Given the description of an element on the screen output the (x, y) to click on. 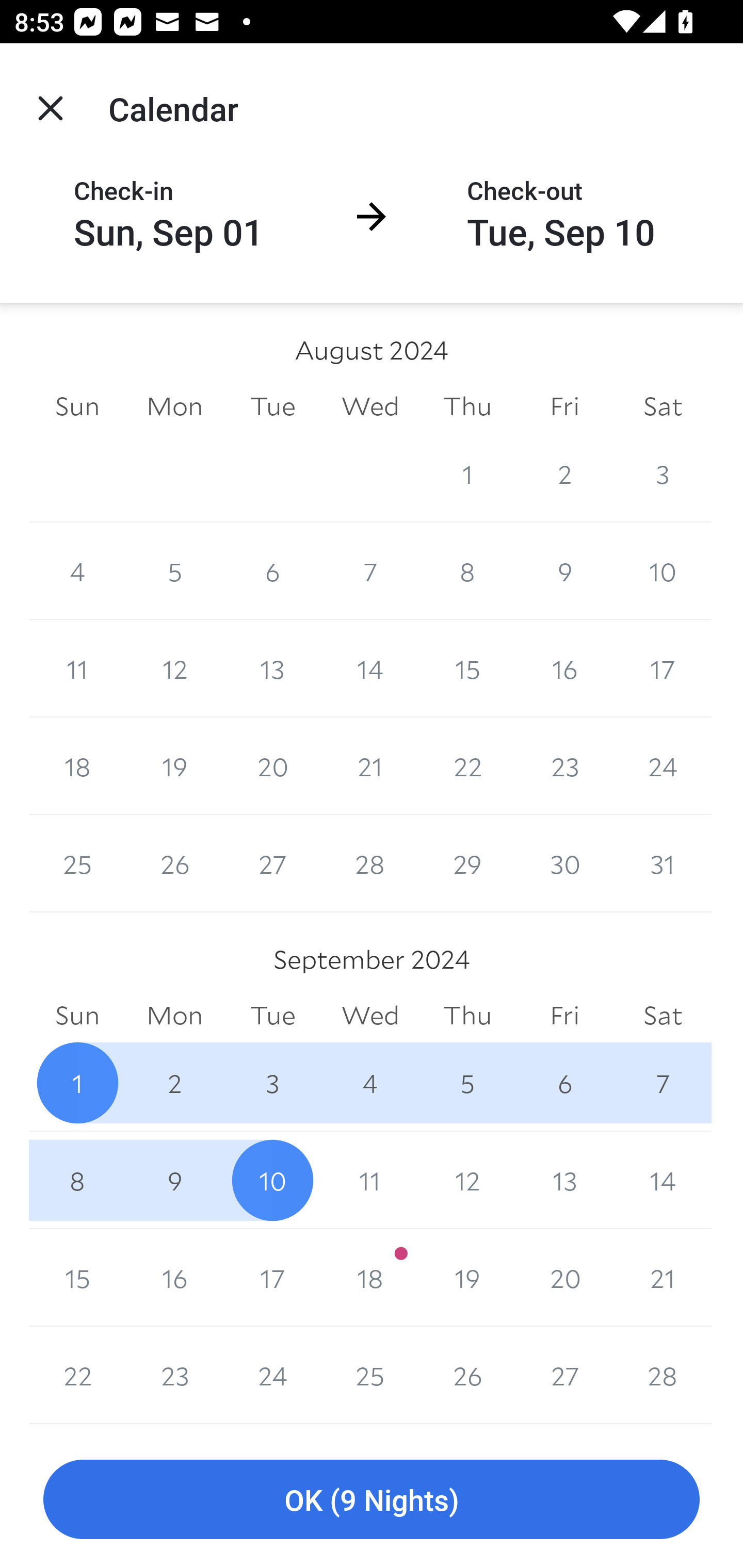
Sun (77, 405)
Mon (174, 405)
Tue (272, 405)
Wed (370, 405)
Thu (467, 405)
Fri (564, 405)
Sat (662, 405)
29 29 August 2024 (174, 473)
30 30 August 2024 (272, 473)
31 31 August 2024 (370, 473)
1 1 August 2024 (467, 473)
2 2 August 2024 (564, 473)
3 3 August 2024 (662, 473)
4 4 August 2024 (77, 570)
5 5 August 2024 (174, 570)
6 6 August 2024 (272, 570)
7 7 August 2024 (370, 570)
8 8 August 2024 (467, 570)
9 9 August 2024 (564, 570)
10 10 August 2024 (662, 570)
11 11 August 2024 (77, 668)
12 12 August 2024 (174, 668)
13 13 August 2024 (272, 668)
14 14 August 2024 (370, 668)
15 15 August 2024 (467, 668)
16 16 August 2024 (564, 668)
17 17 August 2024 (662, 668)
18 18 August 2024 (77, 766)
19 19 August 2024 (174, 766)
20 20 August 2024 (272, 766)
21 21 August 2024 (370, 766)
22 22 August 2024 (467, 766)
23 23 August 2024 (564, 766)
24 24 August 2024 (662, 766)
25 25 August 2024 (77, 863)
26 26 August 2024 (174, 863)
27 27 August 2024 (272, 863)
28 28 August 2024 (370, 863)
29 29 August 2024 (467, 863)
30 30 August 2024 (564, 863)
31 31 August 2024 (662, 863)
Sun (77, 1015)
Mon (174, 1015)
Tue (272, 1015)
Wed (370, 1015)
Thu (467, 1015)
Fri (564, 1015)
Sat (662, 1015)
1 1 September 2024 (77, 1083)
2 2 September 2024 (174, 1083)
3 3 September 2024 (272, 1083)
4 4 September 2024 (370, 1083)
5 5 September 2024 (467, 1083)
6 6 September 2024 (564, 1083)
7 7 September 2024 (662, 1083)
8 8 September 2024 (77, 1180)
9 9 September 2024 (174, 1180)
10 10 September 2024 (272, 1180)
11 11 September 2024 (370, 1180)
12 12 September 2024 (467, 1180)
13 13 September 2024 (564, 1180)
14 14 September 2024 (662, 1180)
15 15 September 2024 (77, 1277)
16 16 September 2024 (174, 1277)
17 17 September 2024 (272, 1277)
18 18 September 2024 (370, 1277)
19 19 September 2024 (467, 1277)
20 20 September 2024 (564, 1277)
21 21 September 2024 (662, 1277)
22 22 September 2024 (77, 1374)
23 23 September 2024 (174, 1374)
24 24 September 2024 (272, 1374)
25 25 September 2024 (370, 1374)
26 26 September 2024 (467, 1374)
27 27 September 2024 (564, 1374)
28 28 September 2024 (662, 1374)
OK (9 Nights) (371, 1499)
